Given the description of an element on the screen output the (x, y) to click on. 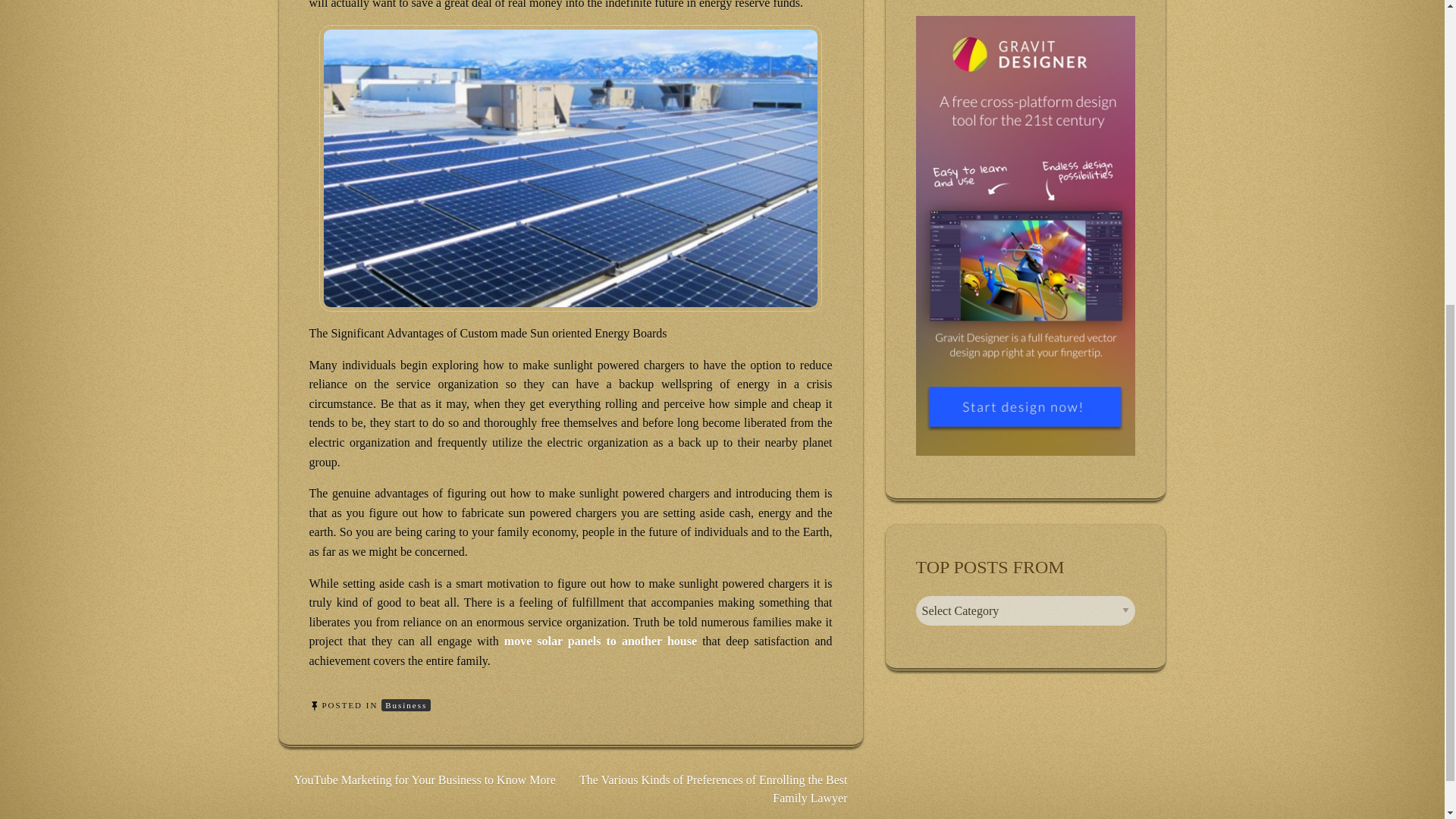
move solar panels to another house (600, 640)
YouTube Marketing for Your Business to Know More (425, 779)
Business (405, 705)
